Given the description of an element on the screen output the (x, y) to click on. 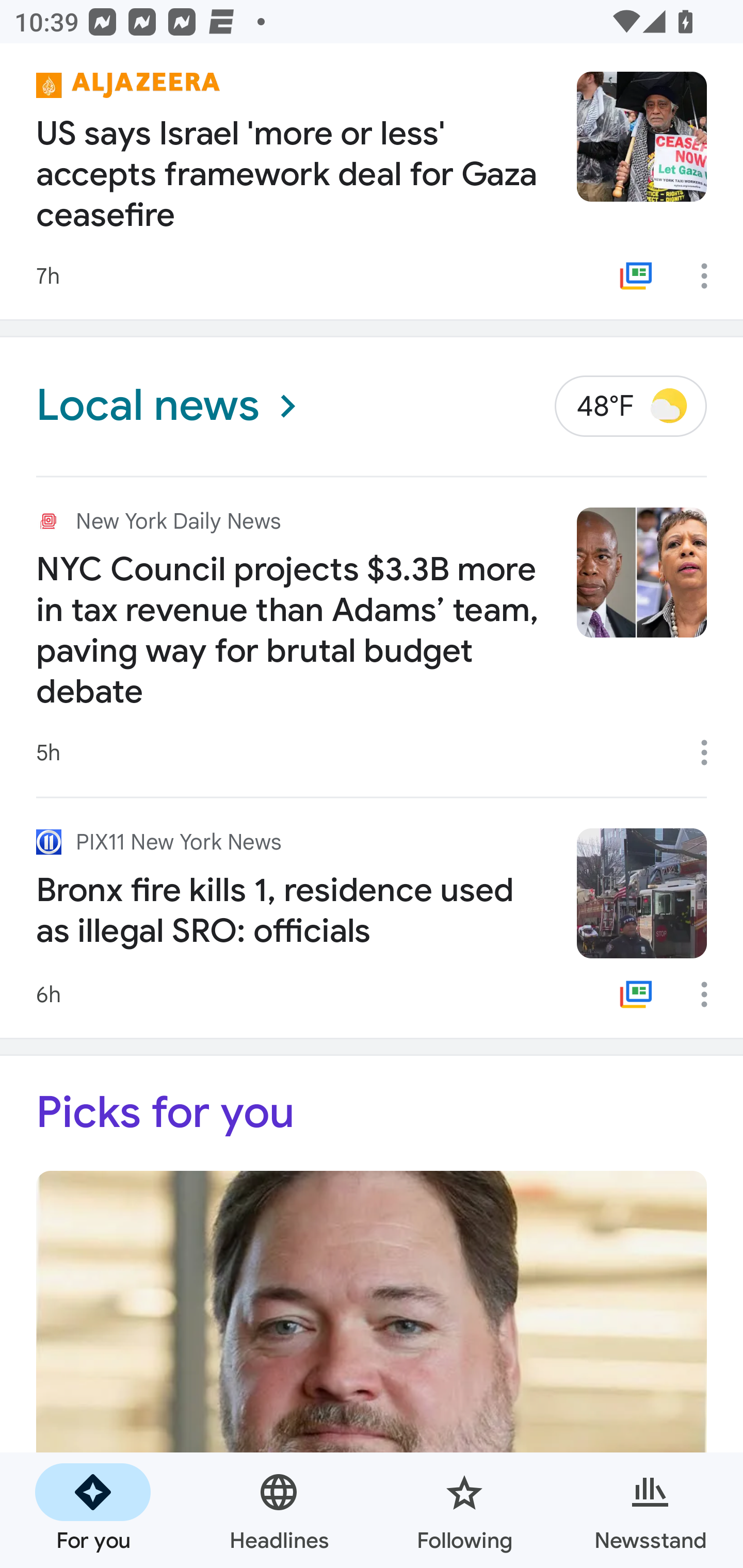
More options (711, 275)
More options (711, 752)
More options (711, 994)
For you (92, 1509)
Headlines (278, 1509)
Following (464, 1509)
Newsstand (650, 1509)
